Given the description of an element on the screen output the (x, y) to click on. 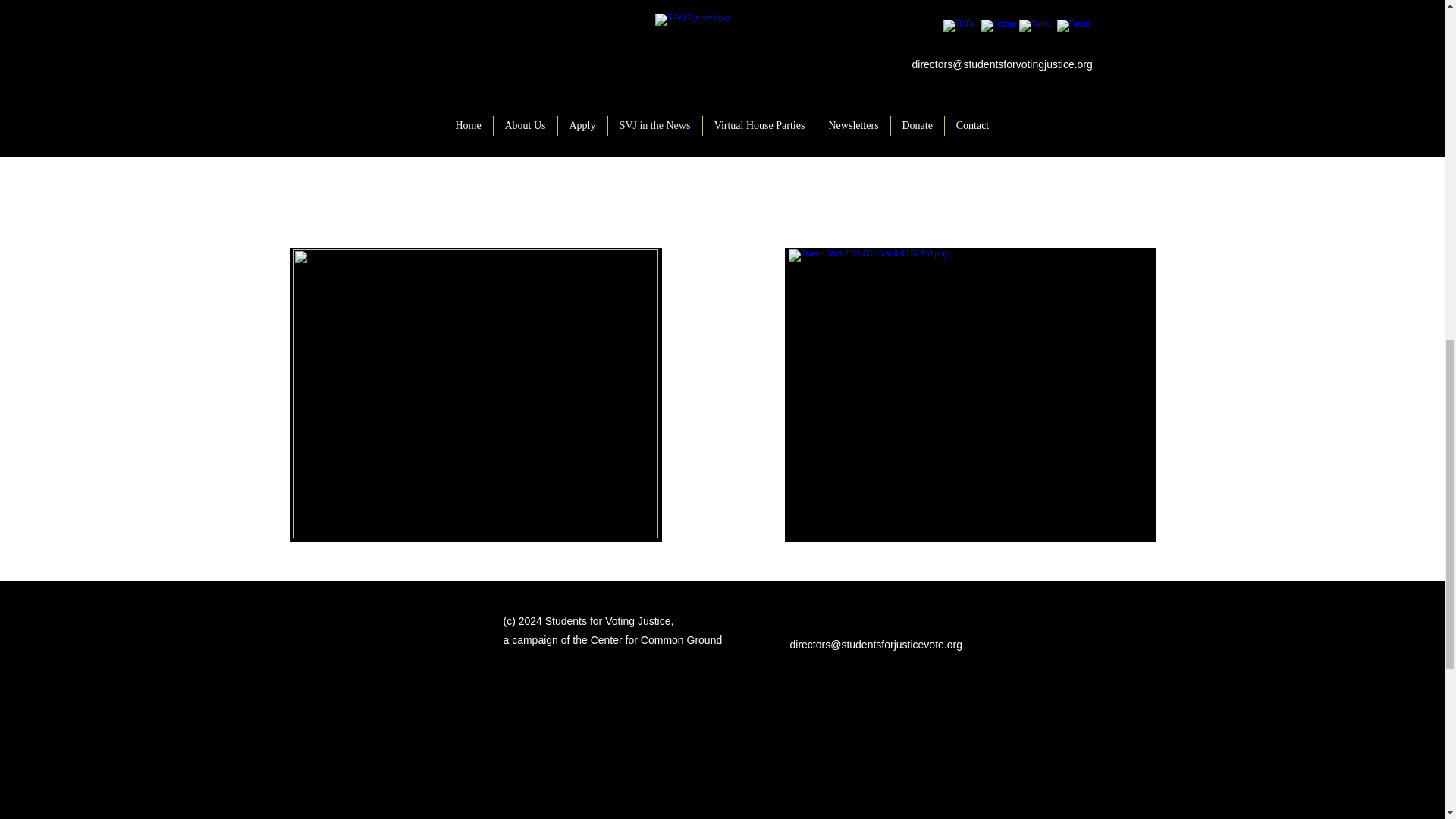
Screen Shot 2020-12-09 at 12.50.28 PM.pn (475, 393)
